Given the description of an element on the screen output the (x, y) to click on. 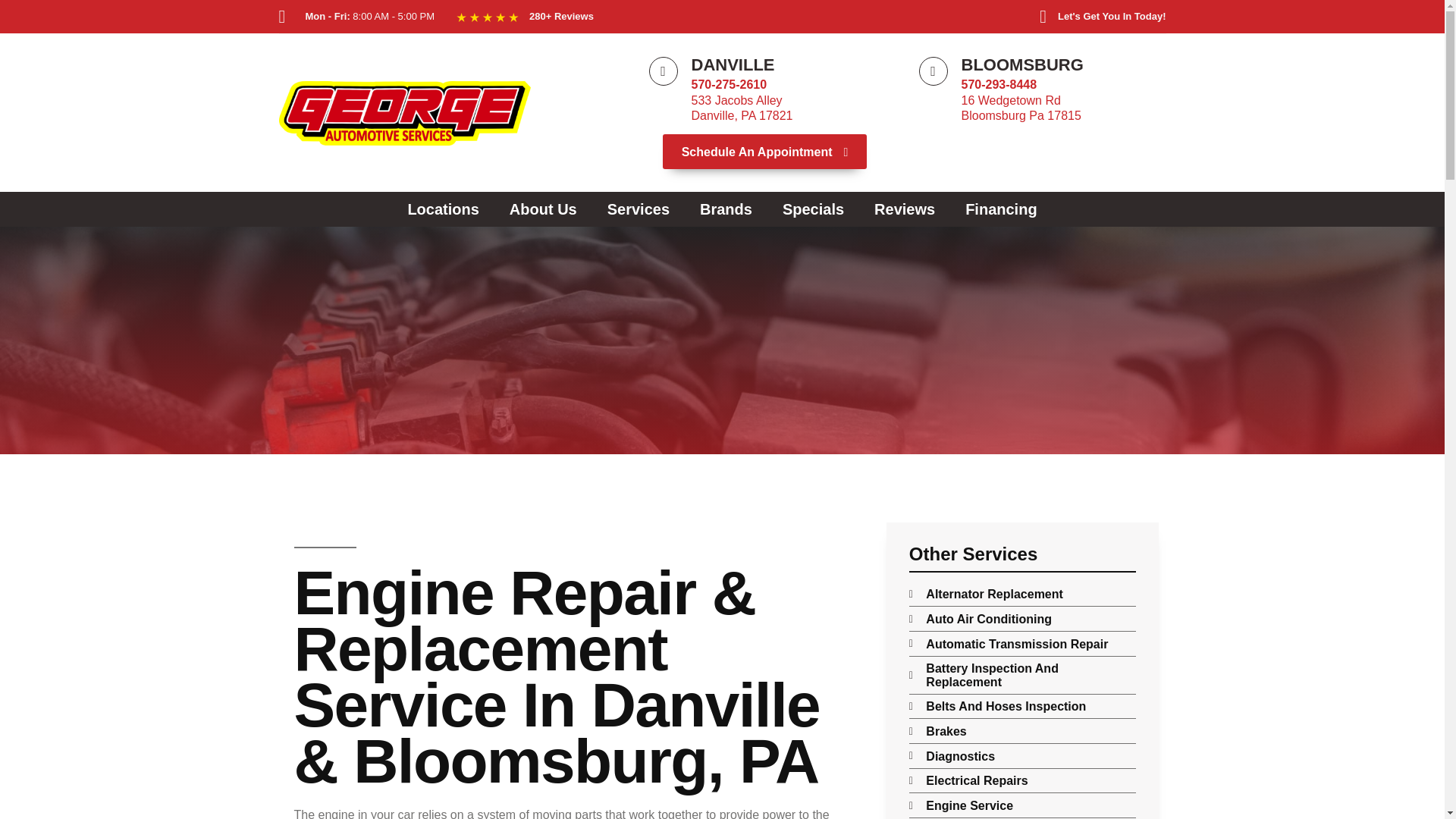
DANVILLE (732, 64)
570-293-8448 (998, 83)
Mon - Fri: 8:00 AM - 5:00 PM (364, 16)
Locations (443, 209)
Schedule An Appointment (764, 151)
Let'S Get You In Today! (1094, 16)
Other Services (1021, 558)
Brands (726, 209)
Services (742, 108)
Let'S Get You In Today! (638, 209)
BLOOMSBURG (1032, 16)
Schedule An Appointment (1021, 64)
